Given the description of an element on the screen output the (x, y) to click on. 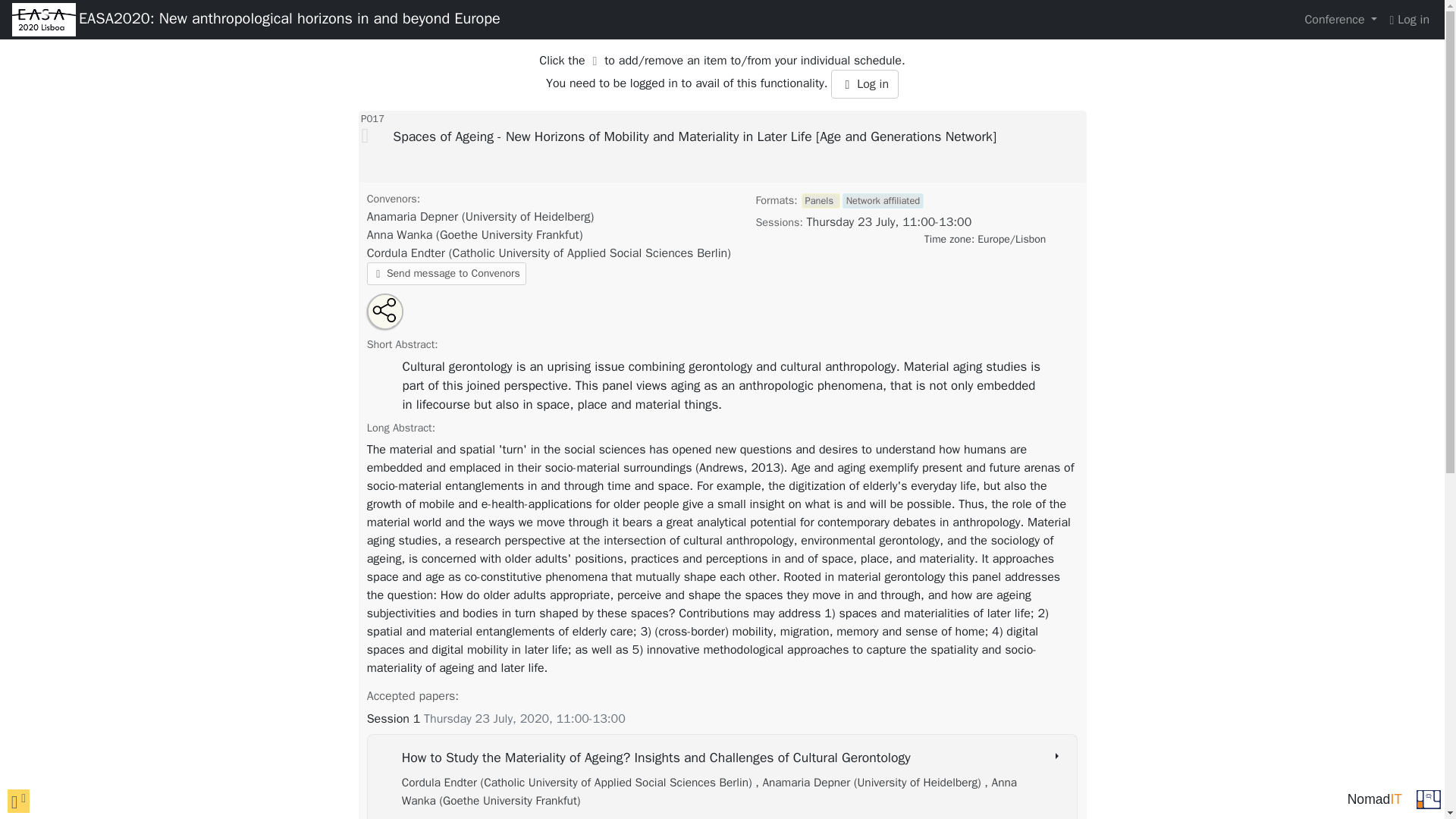
login (1409, 19)
Author (869, 782)
 Log in (1409, 19)
Share this panel (386, 309)
NomadIT (1374, 798)
Email this panel link (395, 319)
Open an email with this panel link (395, 319)
Log in (864, 83)
Convenor (474, 234)
Log in (864, 83)
Conference (1340, 19)
EASA2020: New anthropological horizons in and beyond Europe (289, 19)
Convenor (548, 253)
Author (578, 782)
click to toggle popover (17, 800)
